Given the description of an element on the screen output the (x, y) to click on. 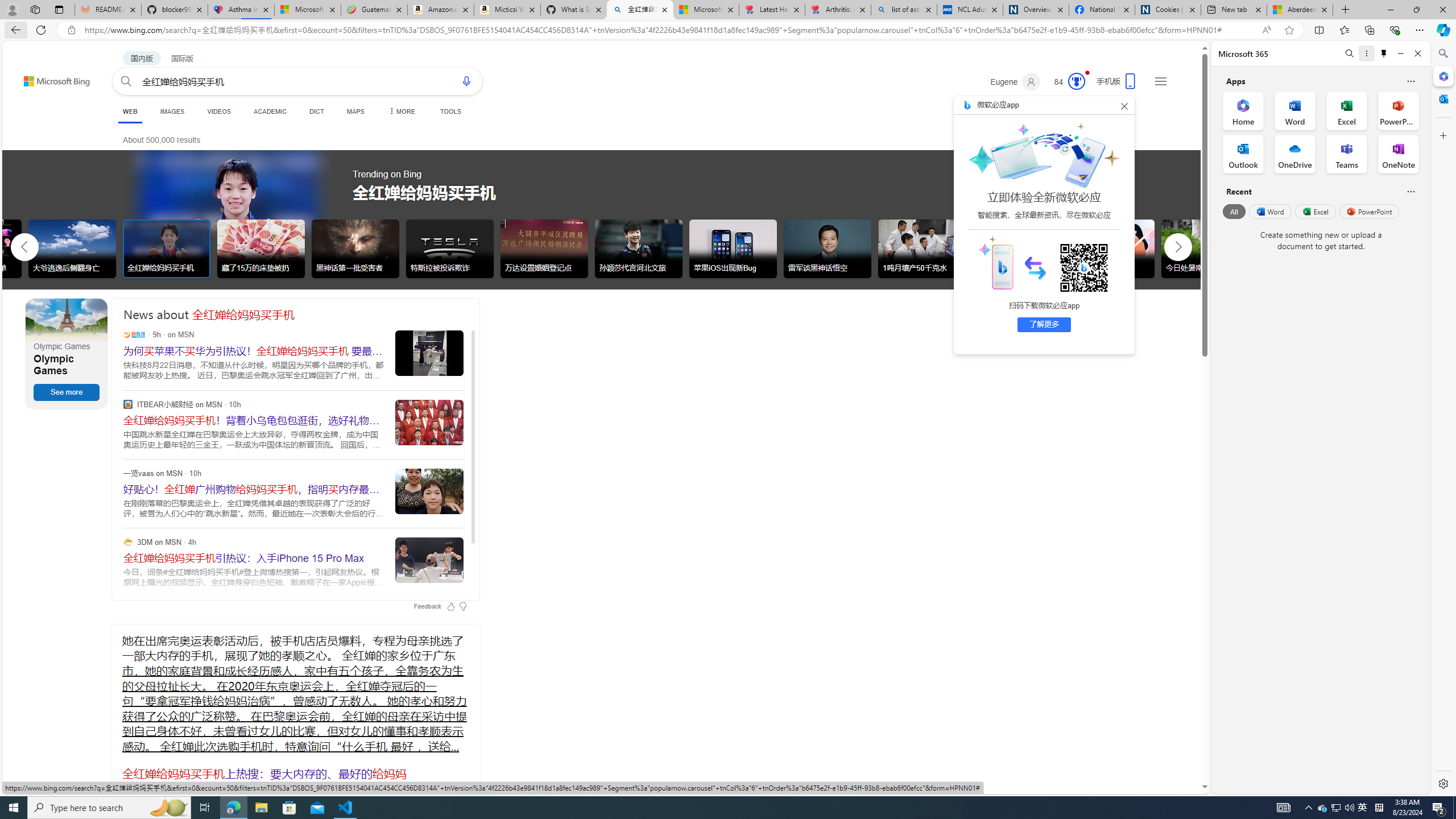
Class: rms_img (994, 262)
Back to Bing search (50, 78)
Outlook Office App (1243, 154)
AutomationID: fly_arrimg (1035, 267)
AutomationID: tob_right_arrow (1177, 246)
